Given the description of an element on the screen output the (x, y) to click on. 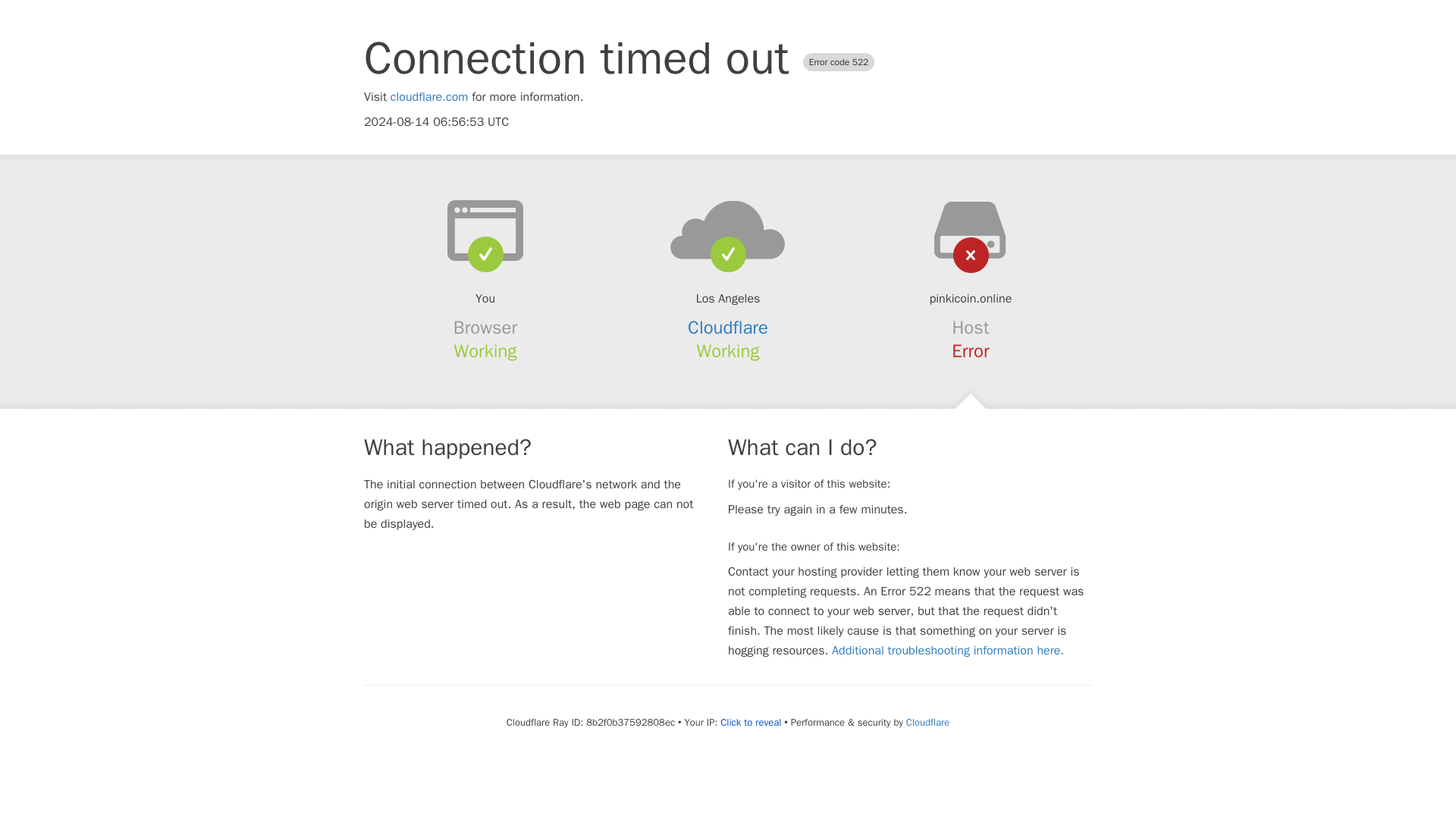
cloudflare.com (429, 96)
Click to reveal (750, 722)
Cloudflare (927, 721)
Cloudflare (727, 327)
Additional troubleshooting information here. (947, 650)
